Given the description of an element on the screen output the (x, y) to click on. 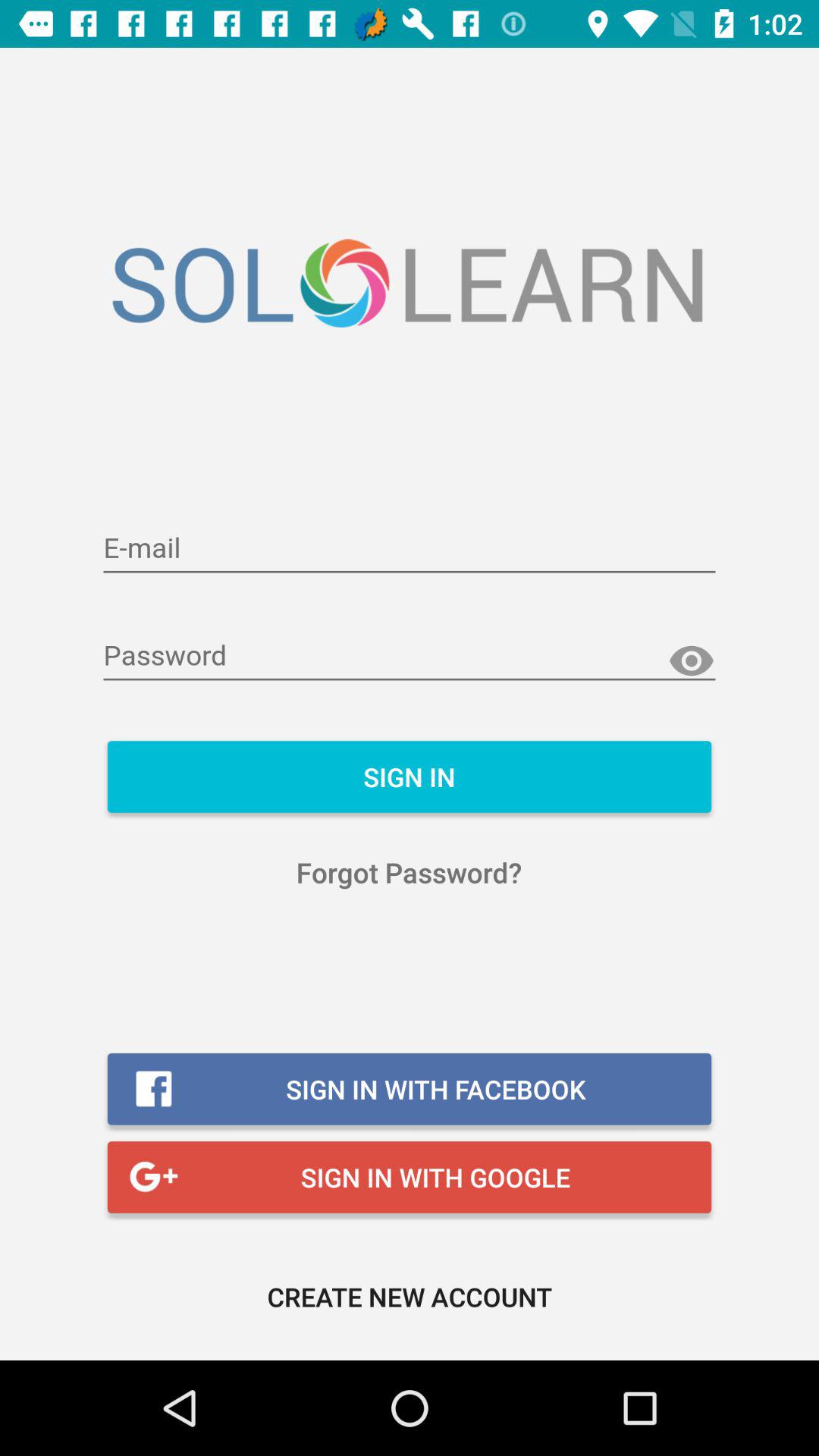
enter password (409, 656)
